Given the description of an element on the screen output the (x, y) to click on. 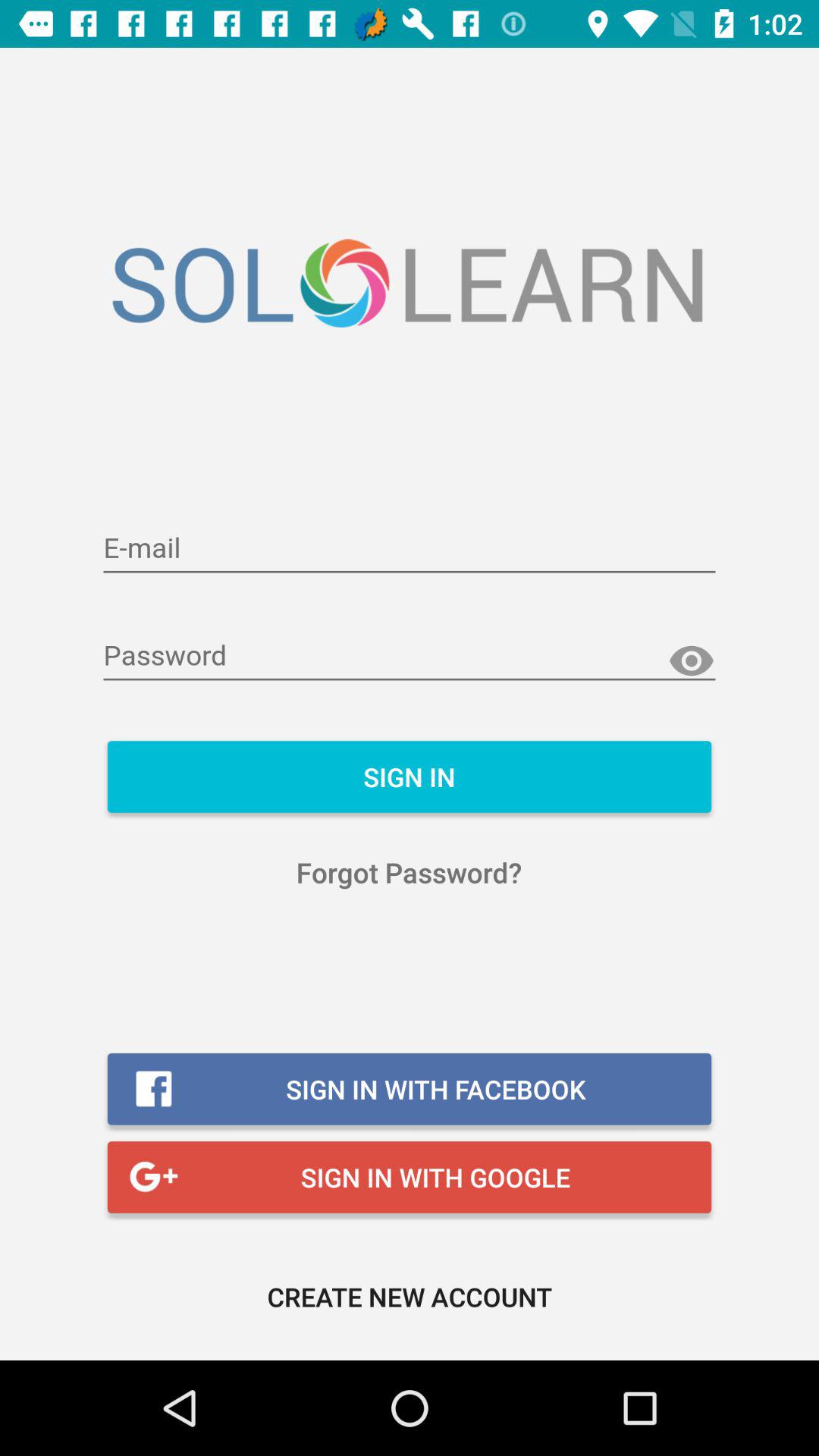
enter password (409, 656)
